Given the description of an element on the screen output the (x, y) to click on. 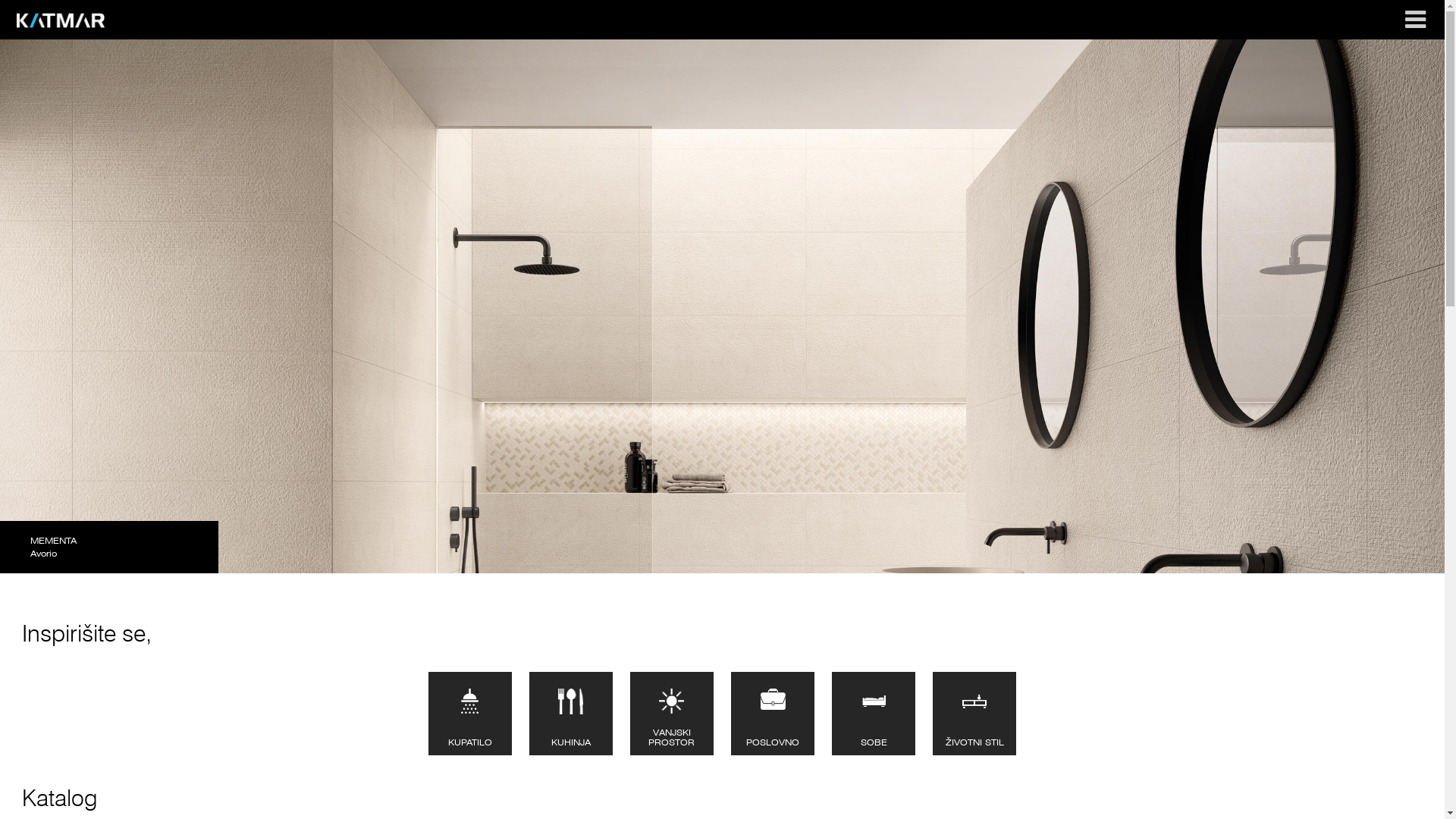
VANJSKI PROSTOR Element type: text (671, 713)
POSLOVNO Element type: text (772, 713)
SOBE Element type: text (873, 713)
KUHINJA Element type: text (570, 713)
KUPATILO Element type: text (469, 713)
